Given the description of an element on the screen output the (x, y) to click on. 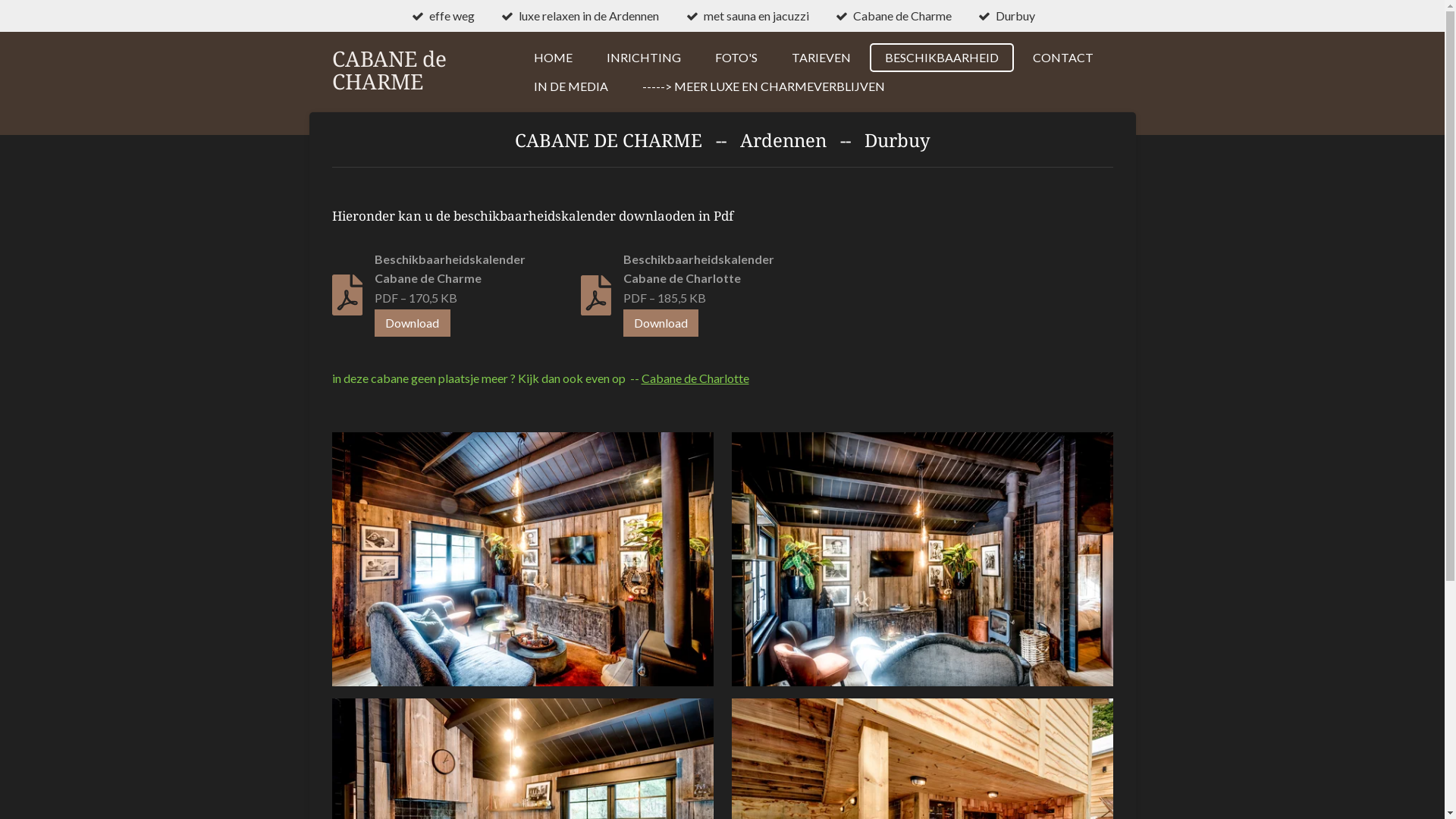
Download Element type: text (661, 322)
BESCHIKBAARHEID Element type: text (941, 57)
INRICHTING Element type: text (643, 57)
-----> MEER LUXE EN CHARMEVERBLIJVEN Element type: text (763, 86)
Download Element type: text (412, 322)
FOTO'S Element type: text (735, 57)
CABANE de CHARME Element type: text (389, 70)
CONTACT Element type: text (1062, 57)
HOME Element type: text (552, 57)
Cabane de Charlotte Element type: text (695, 377)
TARIEVEN Element type: text (821, 57)
IN DE MEDIA Element type: text (570, 86)
